Given the description of an element on the screen output the (x, y) to click on. 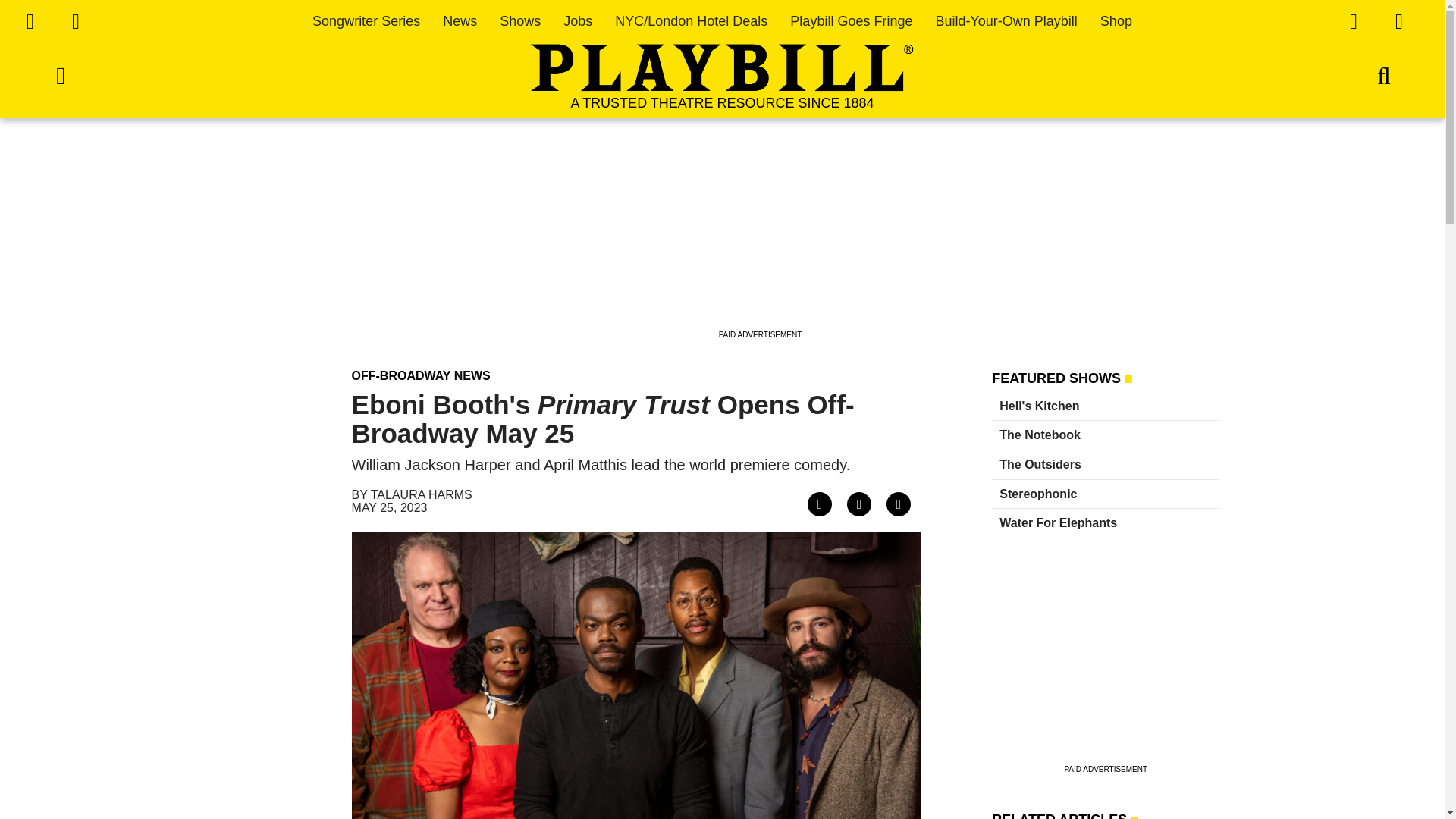
Jobs (577, 20)
News (459, 20)
Shows (519, 20)
Playbill Goes Fringe (851, 20)
Songwriter Series (366, 20)
Shop (1116, 20)
Build-Your-Own Playbill (1005, 20)
